Given the description of an element on the screen output the (x, y) to click on. 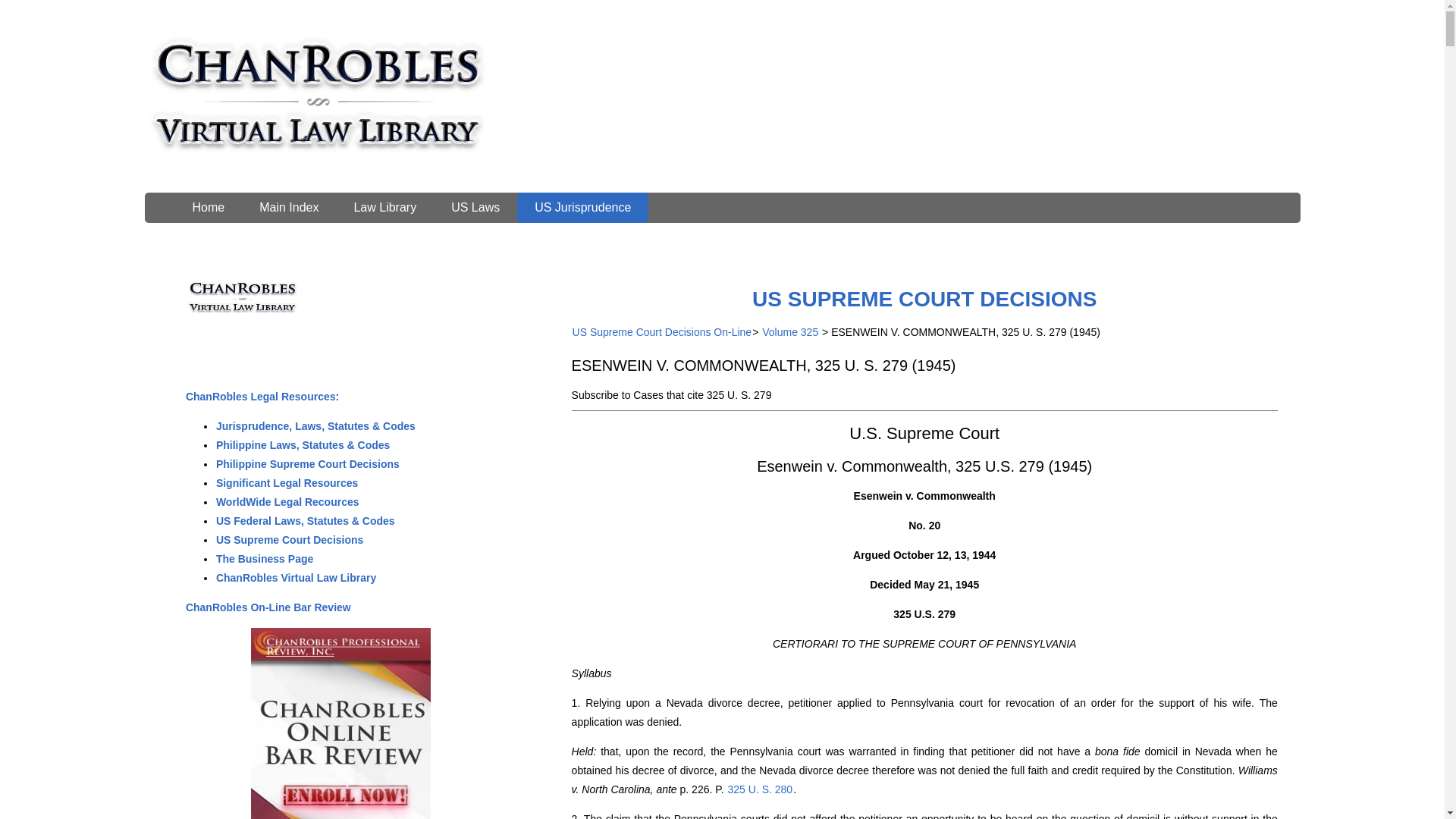
ChanRobles MCLE On-line (252, 666)
WorldWide Legal Recources (287, 501)
US Supreme Court Decisions On-Line (662, 331)
US Supreme Court Decisions (290, 539)
Significant Legal Resources (287, 482)
United States Supreme Court Decisions - On-Line (924, 299)
Volume 325 (789, 331)
Main Index (288, 207)
Philippine Supreme Court Decisions (307, 463)
Home (207, 207)
